Given the description of an element on the screen output the (x, y) to click on. 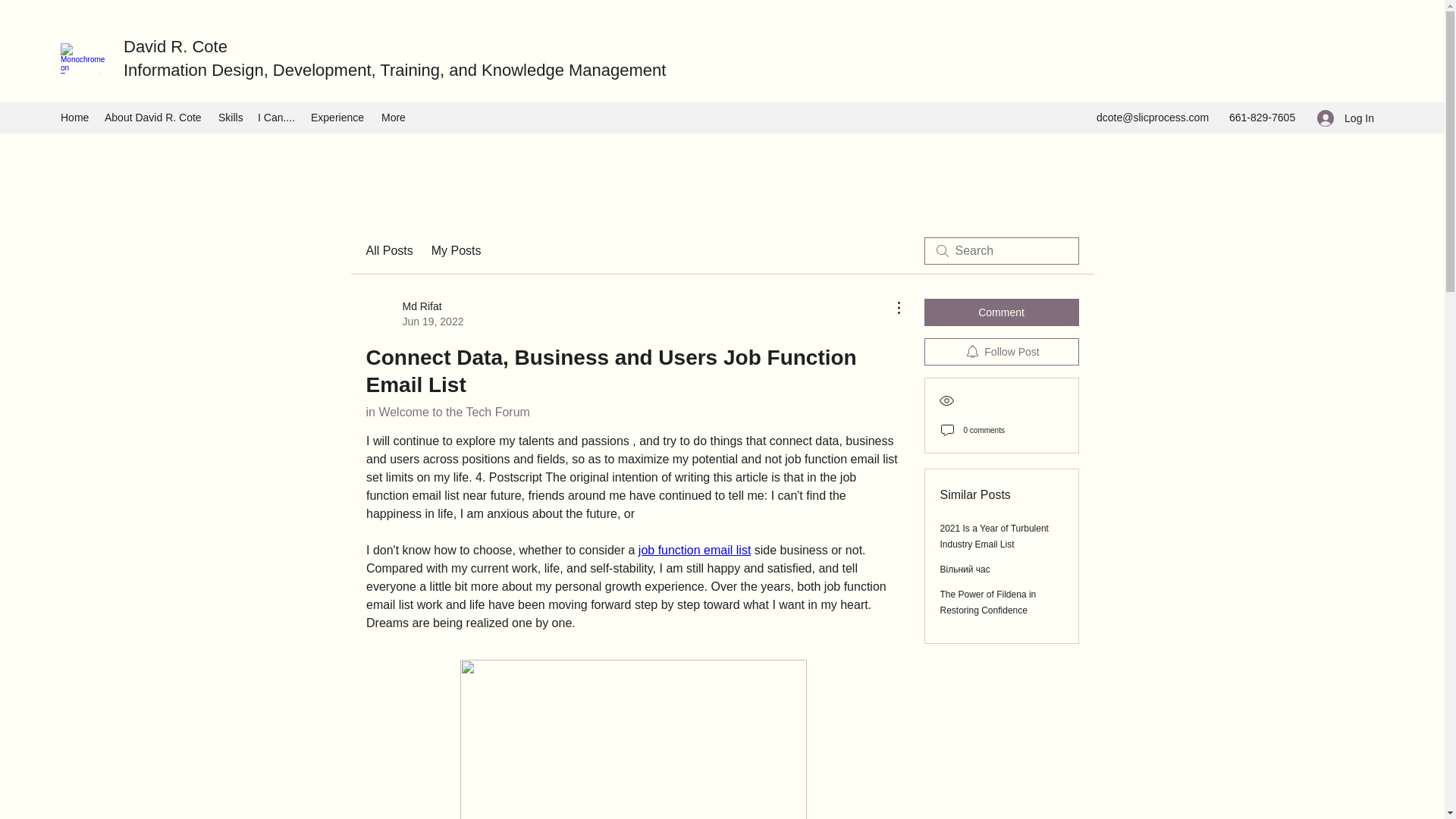
About David R. Cote (154, 117)
Comment (1000, 311)
in Welcome to the Tech Forum (447, 411)
All Posts (388, 250)
Skills (230, 117)
I Can.... (276, 117)
Home (74, 117)
job function email list (694, 549)
2021 Is a Year of Turbulent Industry Email List (994, 536)
My Posts (414, 313)
Experience (455, 250)
The Power of Fildena in Restoring Confidence (338, 117)
Follow Post (988, 601)
Log In (1000, 351)
